Given the description of an element on the screen output the (x, y) to click on. 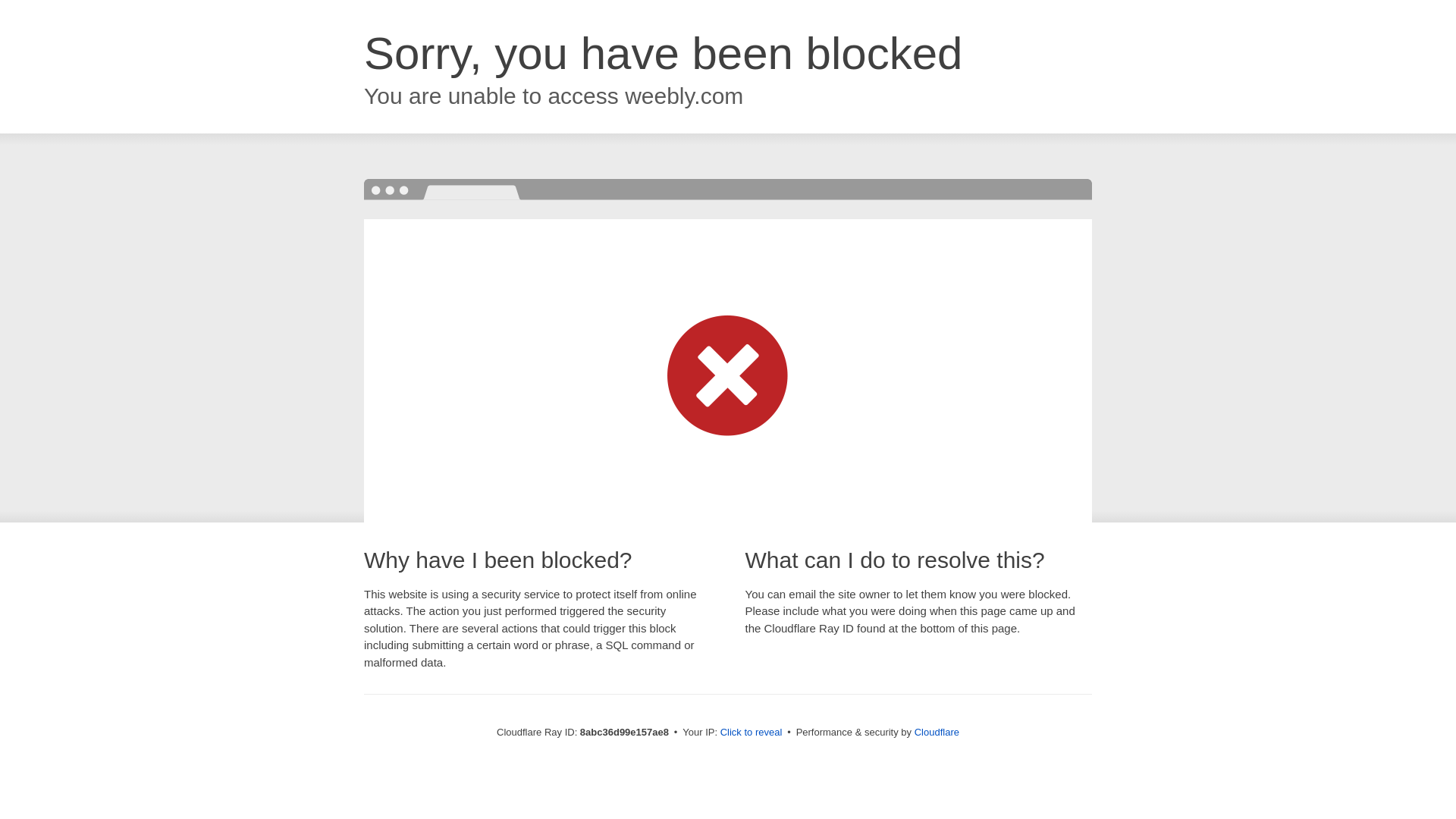
Click to reveal (751, 732)
Cloudflare (936, 731)
